Given the description of an element on the screen output the (x, y) to click on. 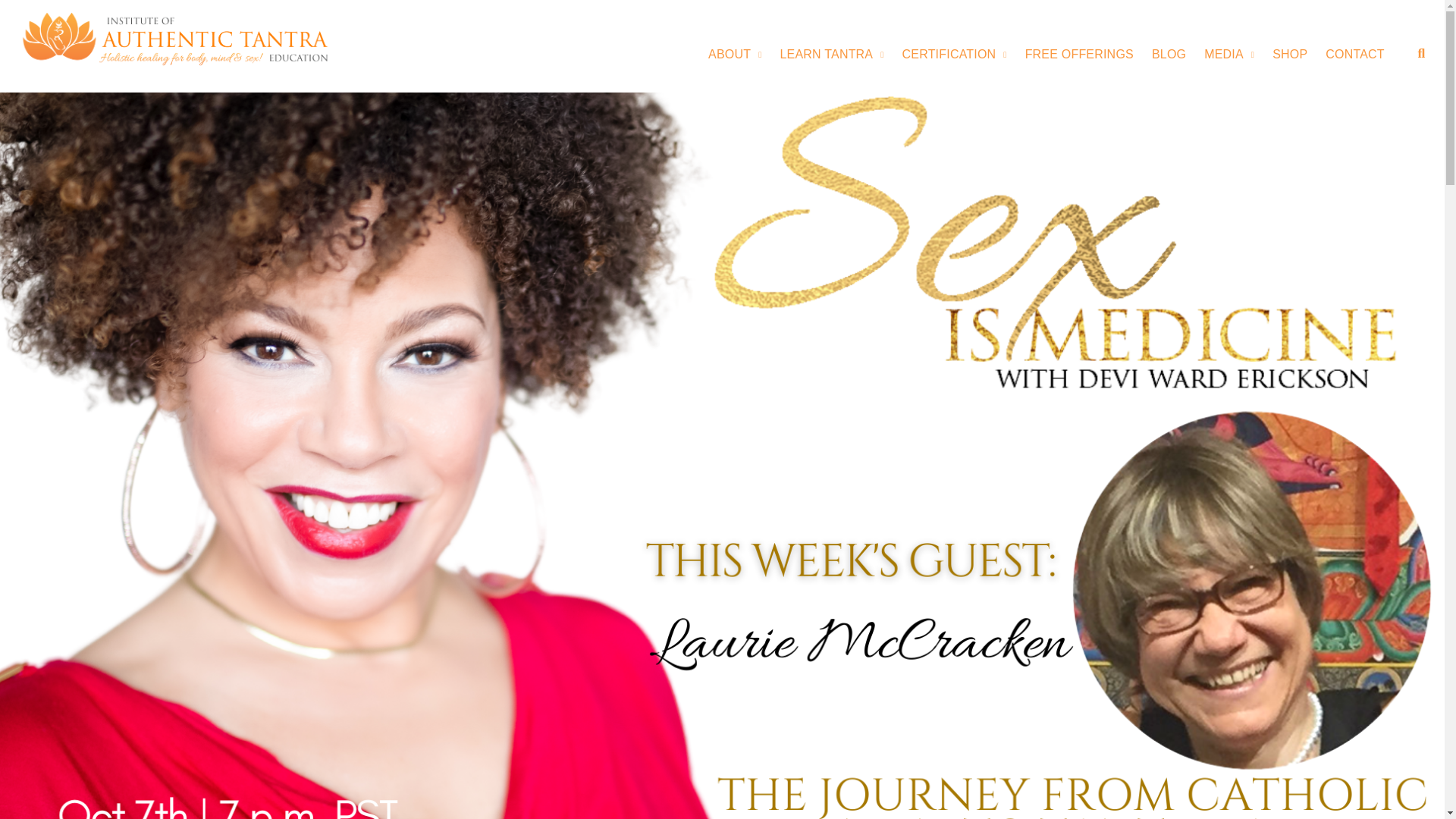
SHOP (1289, 54)
CONTACT (1354, 54)
ABOUT (734, 54)
LEARN TANTRA (831, 54)
BLOG (1168, 54)
FREE OFFERINGS (1079, 54)
MEDIA (1228, 54)
CERTIFICATION (954, 54)
